Given the description of an element on the screen output the (x, y) to click on. 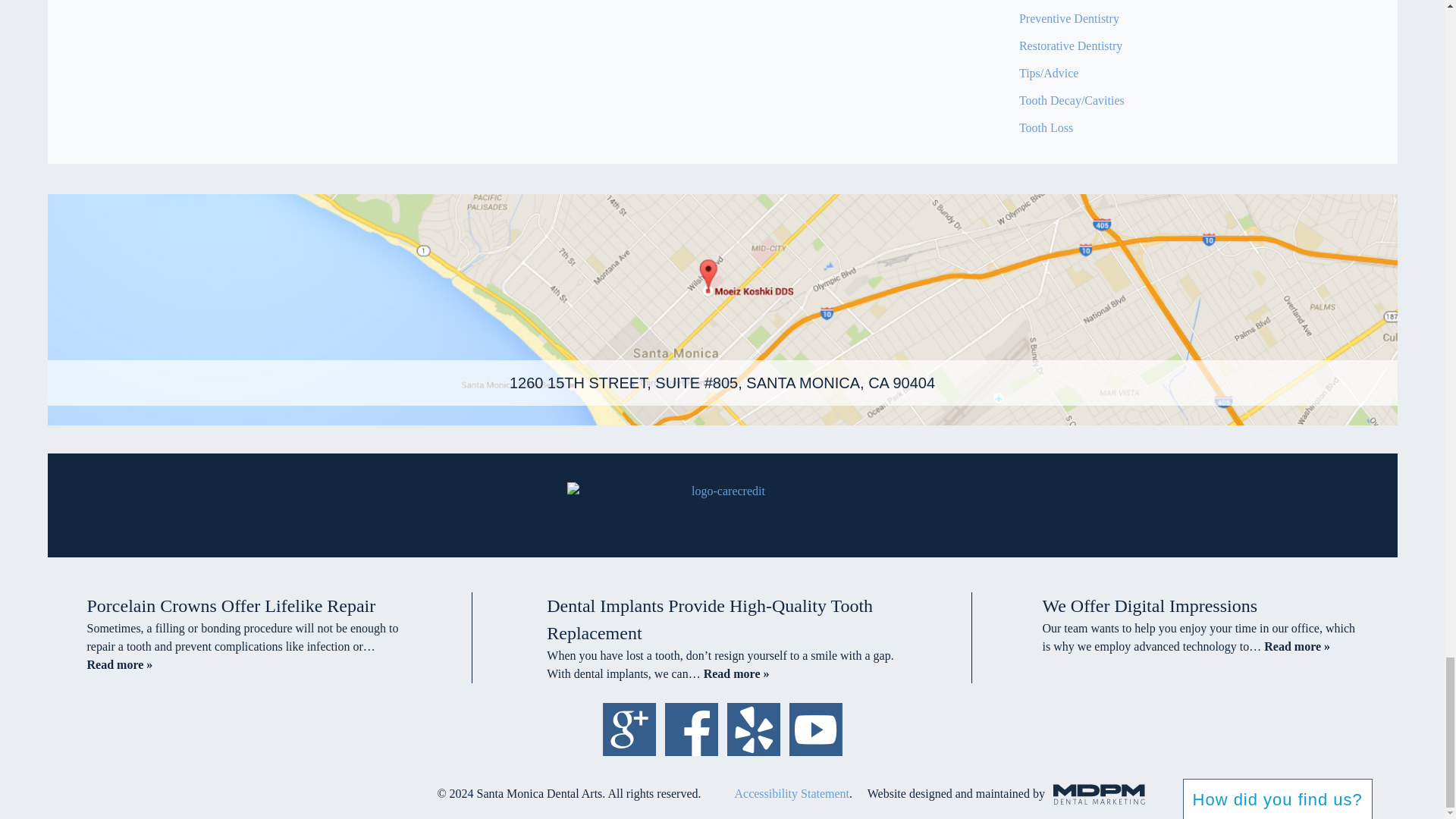
Read Porcelain Crowns Offer Lifelike Repair (118, 664)
Read We Offer Digital Impressions (1296, 645)
Read Dental Implants Provide High-Quality Tooth Replacement (736, 673)
